Given the description of an element on the screen output the (x, y) to click on. 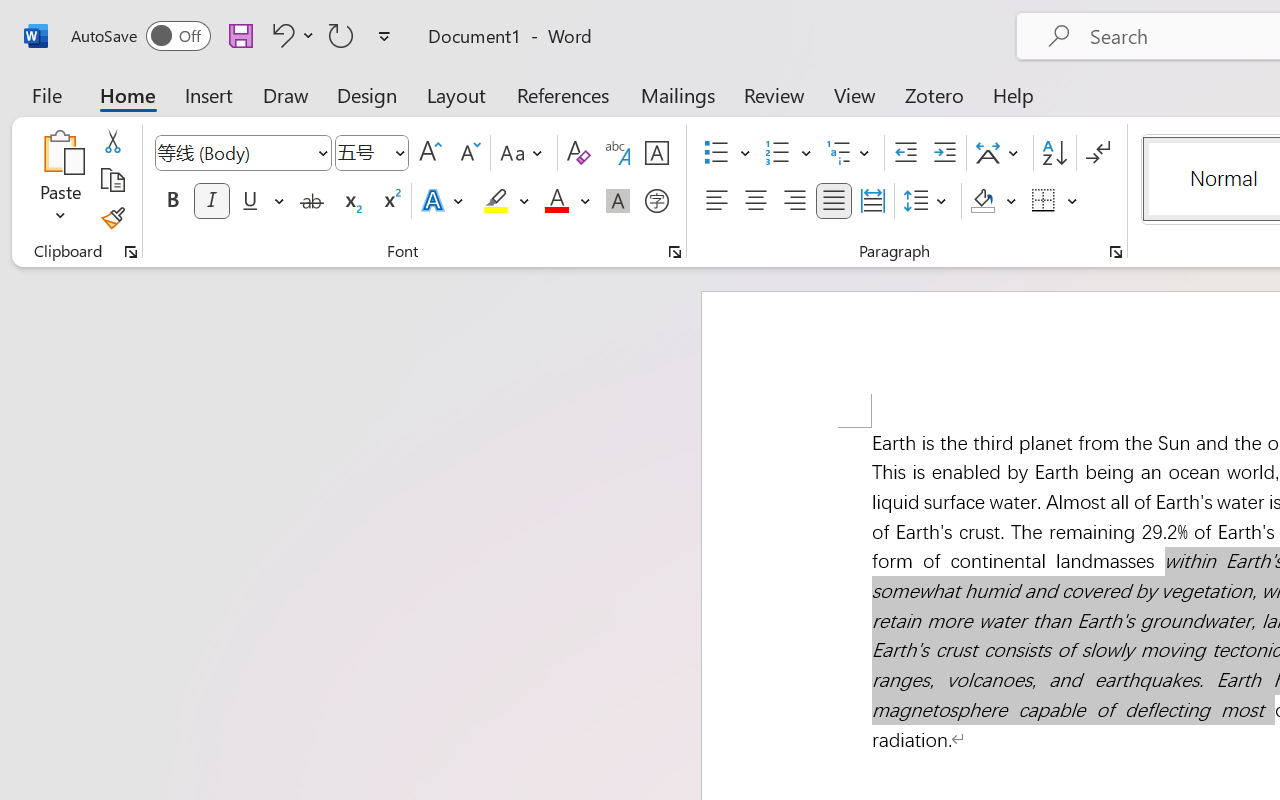
Cut (112, 141)
Text Highlight Color Yellow (495, 201)
Character Shading (618, 201)
Character Border (656, 153)
Font... (675, 252)
Align Right (794, 201)
Shrink Font (468, 153)
Office Clipboard... (131, 252)
Repeat Italic (341, 35)
Italic (212, 201)
